Given the description of an element on the screen output the (x, y) to click on. 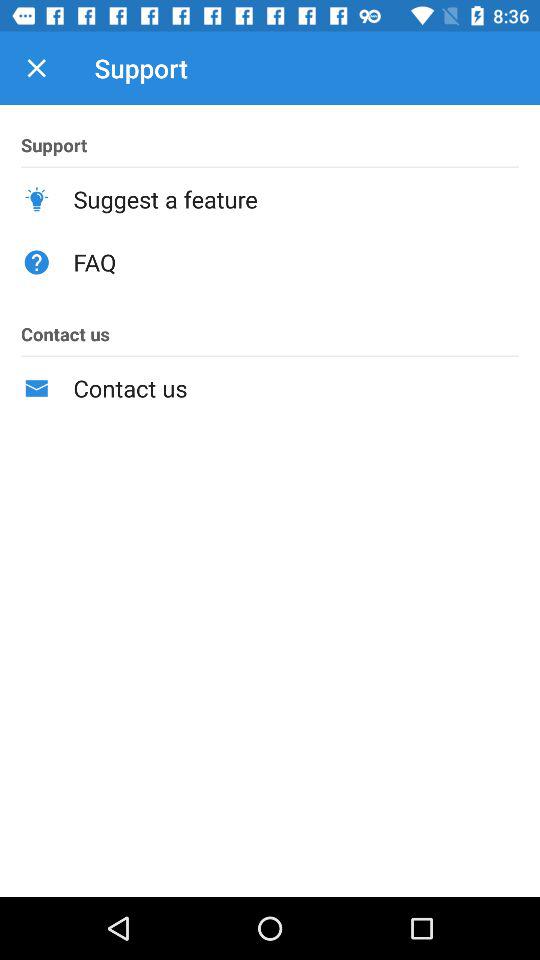
select the icon next to support (36, 68)
